Given the description of an element on the screen output the (x, y) to click on. 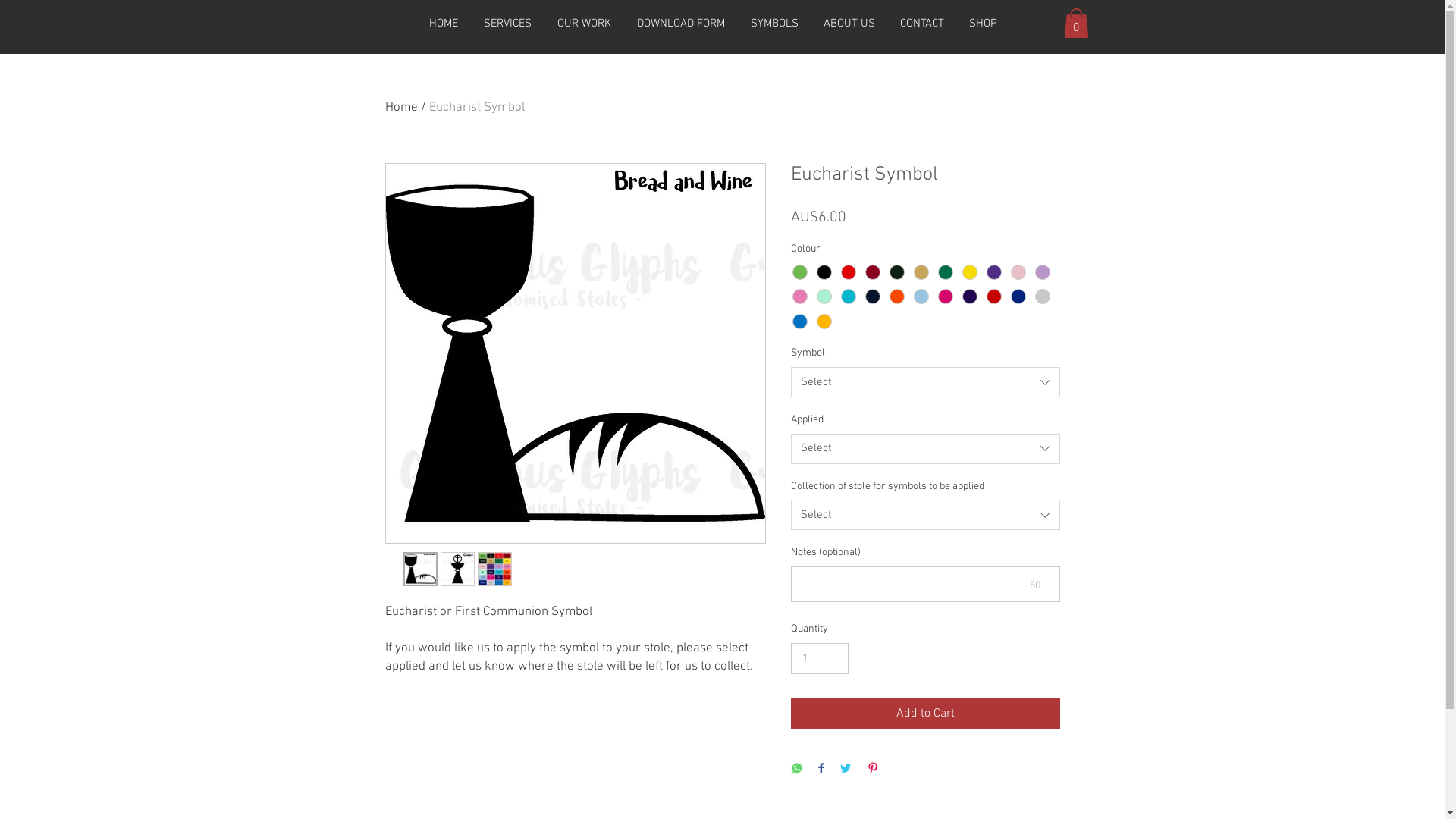
Home Element type: text (401, 107)
HOME Element type: text (442, 23)
DOWNLOAD FORM Element type: text (680, 23)
CONTACT Element type: text (921, 23)
Eucharist Symbol Element type: text (476, 107)
Add to Cart Element type: text (924, 713)
Select Element type: text (924, 382)
SHOP Element type: text (983, 23)
Select Element type: text (924, 514)
Select Element type: text (924, 448)
OUR WORK Element type: text (584, 23)
0 Element type: text (1075, 22)
ABOUT US Element type: text (849, 23)
SERVICES Element type: text (506, 23)
